Given the description of an element on the screen output the (x, y) to click on. 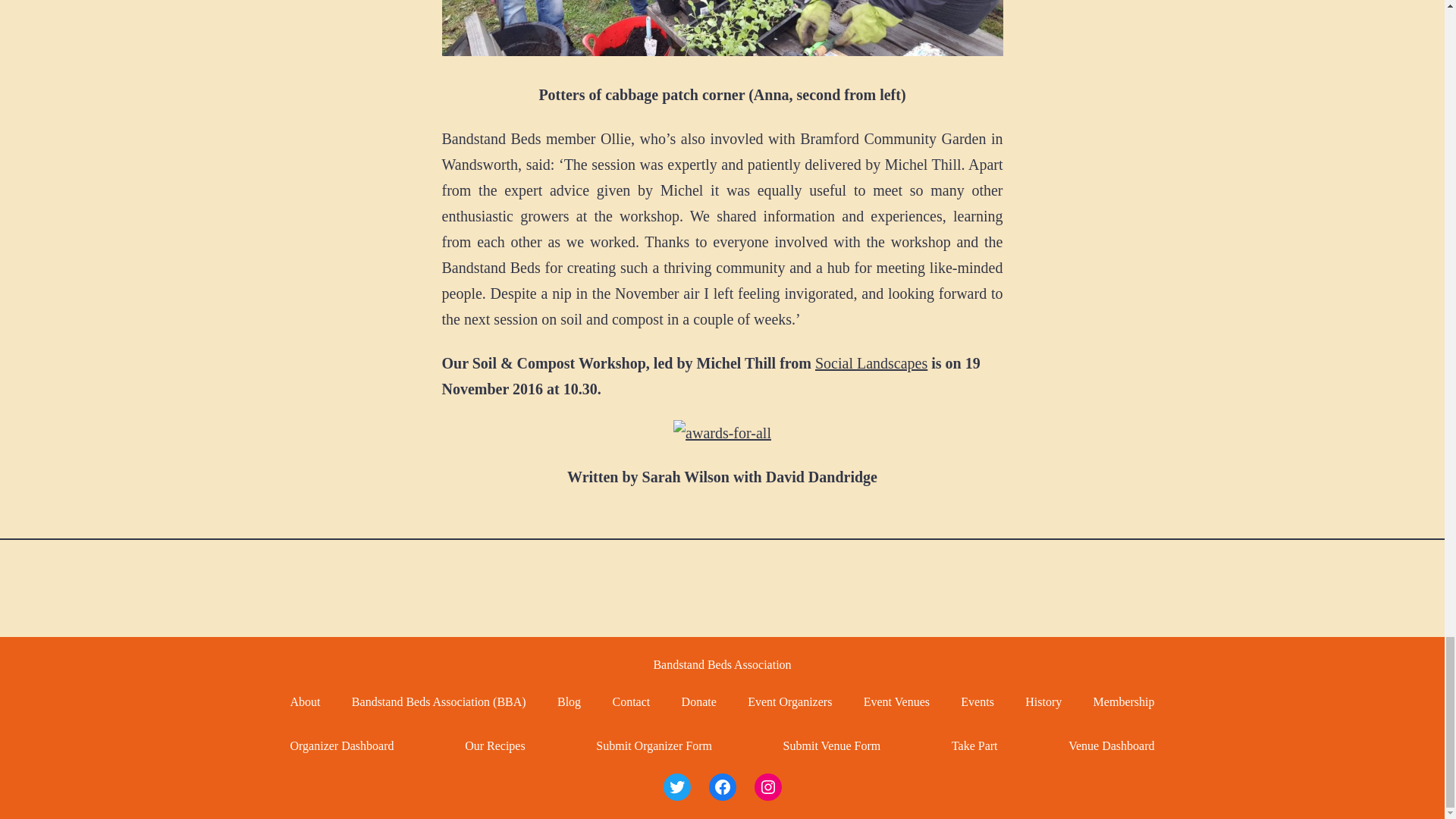
Submit Venue Form (831, 745)
Blog (568, 701)
Submit Organizer Form (653, 745)
About (304, 701)
Organizer Dashboard (341, 745)
Social Landscapes (871, 362)
Our Recipes (494, 745)
History (1043, 701)
Events (977, 701)
Contact (630, 701)
Donate (698, 701)
Event Venues (896, 701)
Take Part (974, 745)
Event Organizers (789, 701)
Membership (1123, 701)
